Given the description of an element on the screen output the (x, y) to click on. 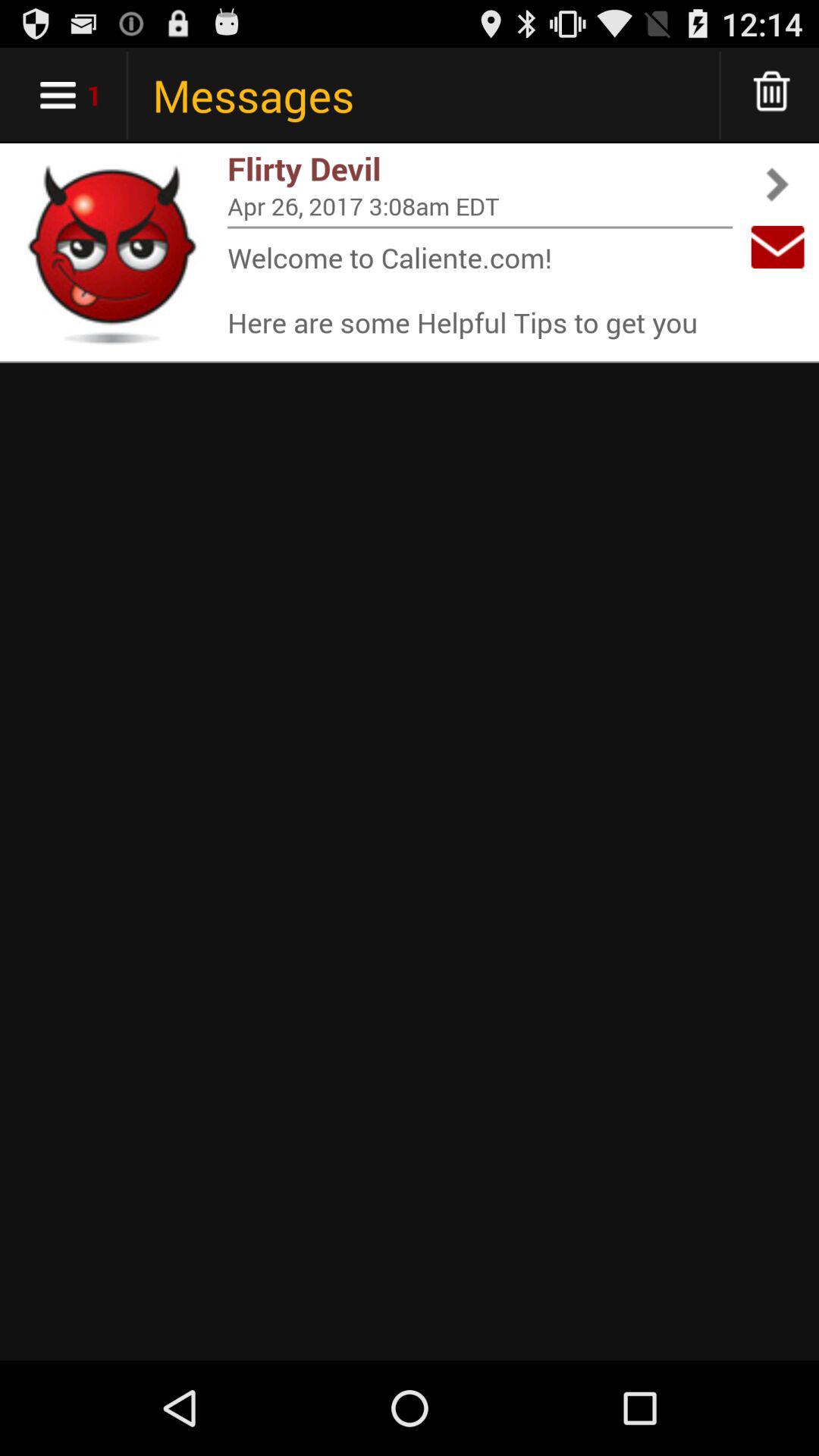
delete message (772, 95)
